Given the description of an element on the screen output the (x, y) to click on. 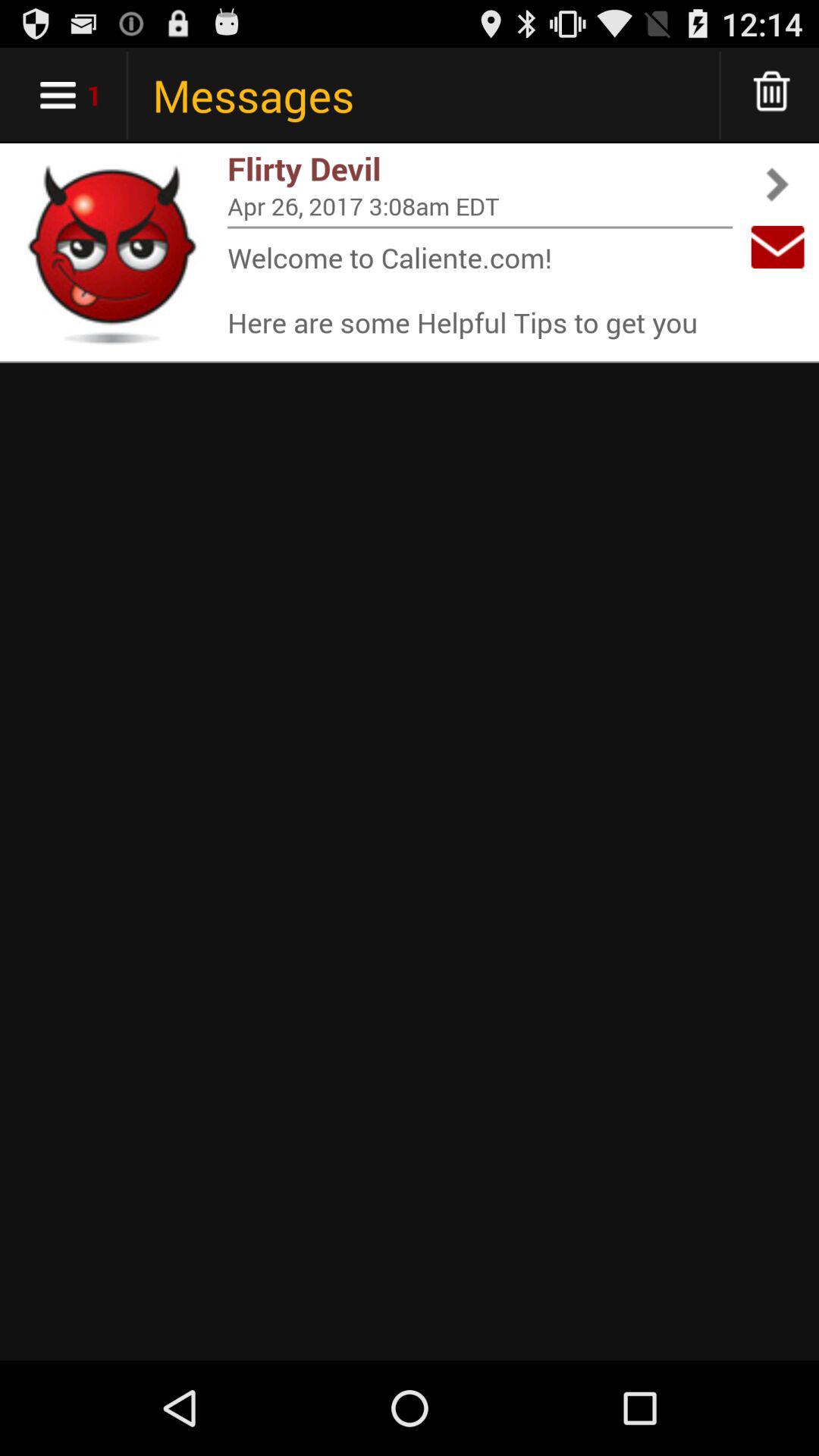
delete message (772, 95)
